Given the description of an element on the screen output the (x, y) to click on. 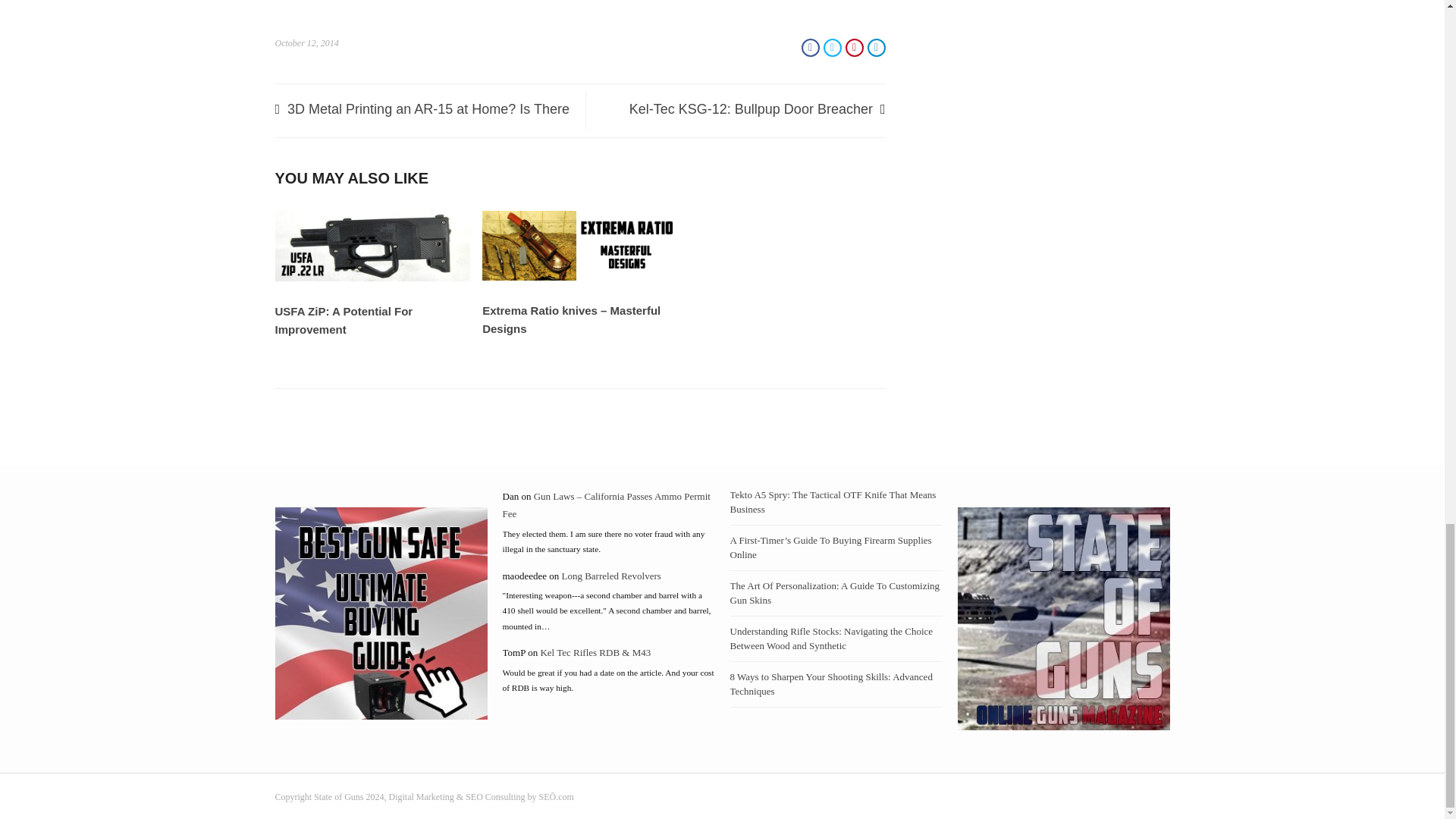
Extremaratiocover State of Guns (579, 245)
Zip22 State of Guns (372, 245)
USFA ZiP: A Potential For Improvement (372, 277)
